Given the description of an element on the screen output the (x, y) to click on. 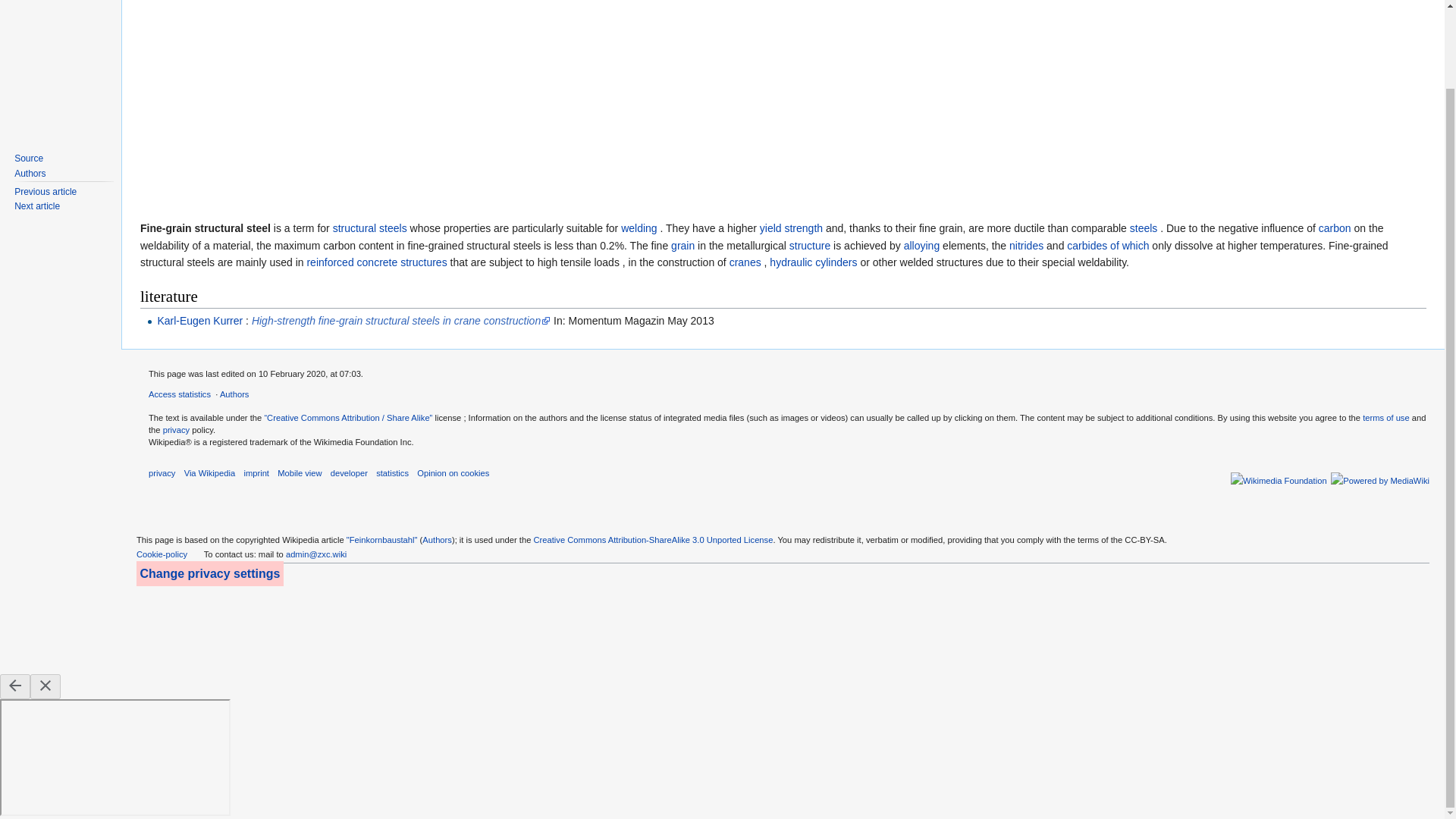
grain (682, 245)
Nitrides (1026, 245)
privacy (176, 429)
alloy (921, 245)
steel (1143, 227)
carbon (1335, 227)
structure (809, 245)
Reinforced concrete (375, 262)
Opinion on cookies (452, 472)
Grain size (682, 245)
imprint (256, 472)
Via Wikipedia (209, 472)
yield strength (791, 227)
Carbides (1107, 245)
